Given the description of an element on the screen output the (x, y) to click on. 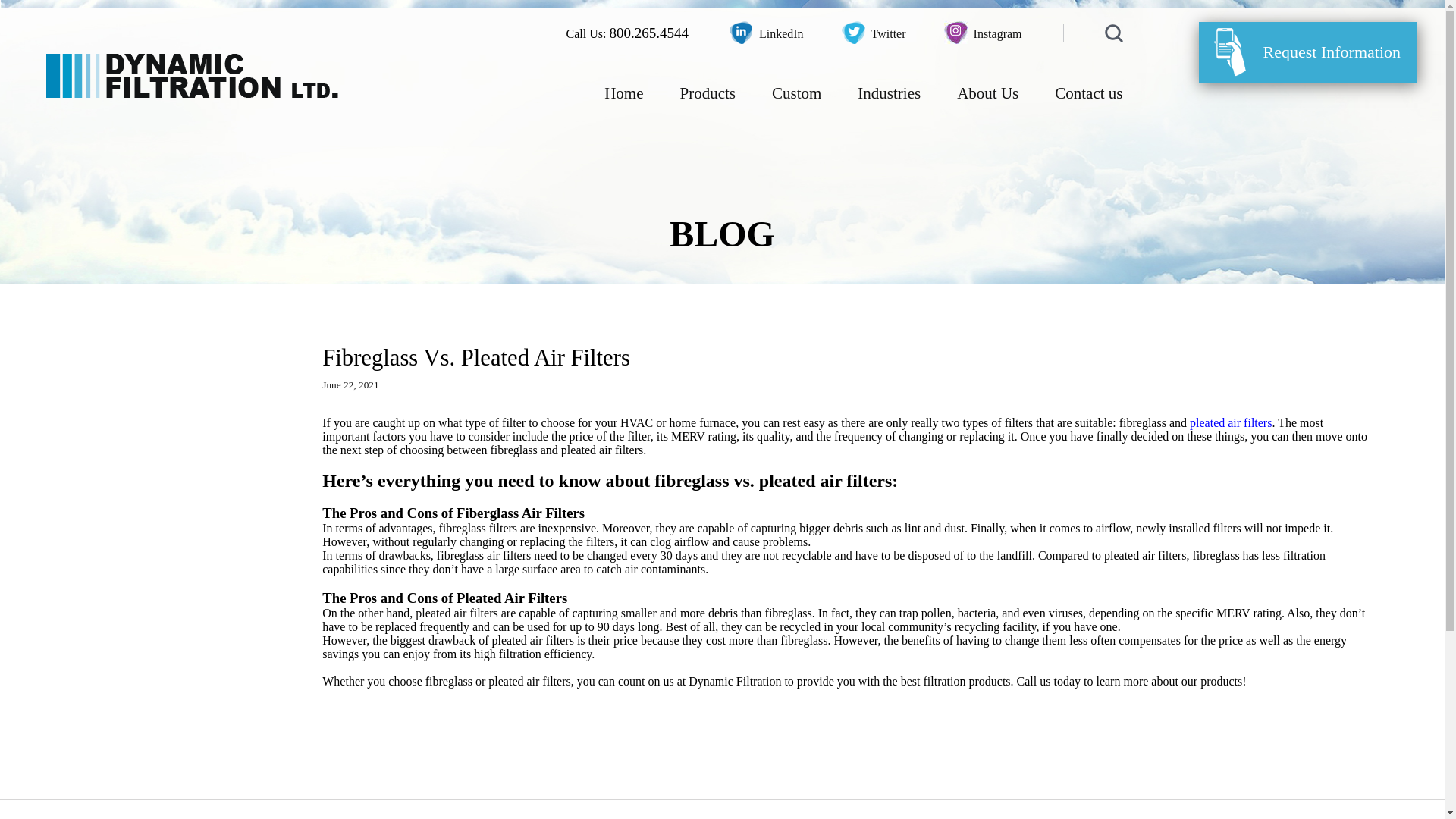
Home (623, 92)
Home (623, 92)
pleated air filters (1230, 422)
Industries (889, 92)
Custom (796, 92)
About Us (987, 92)
Instagram (982, 33)
Contact us (1088, 92)
Request Information (1307, 52)
Request Information (1307, 52)
Twitter (873, 33)
About Us (987, 92)
Custom (796, 92)
LinkedIn (766, 33)
Products (707, 92)
